Given the description of an element on the screen output the (x, y) to click on. 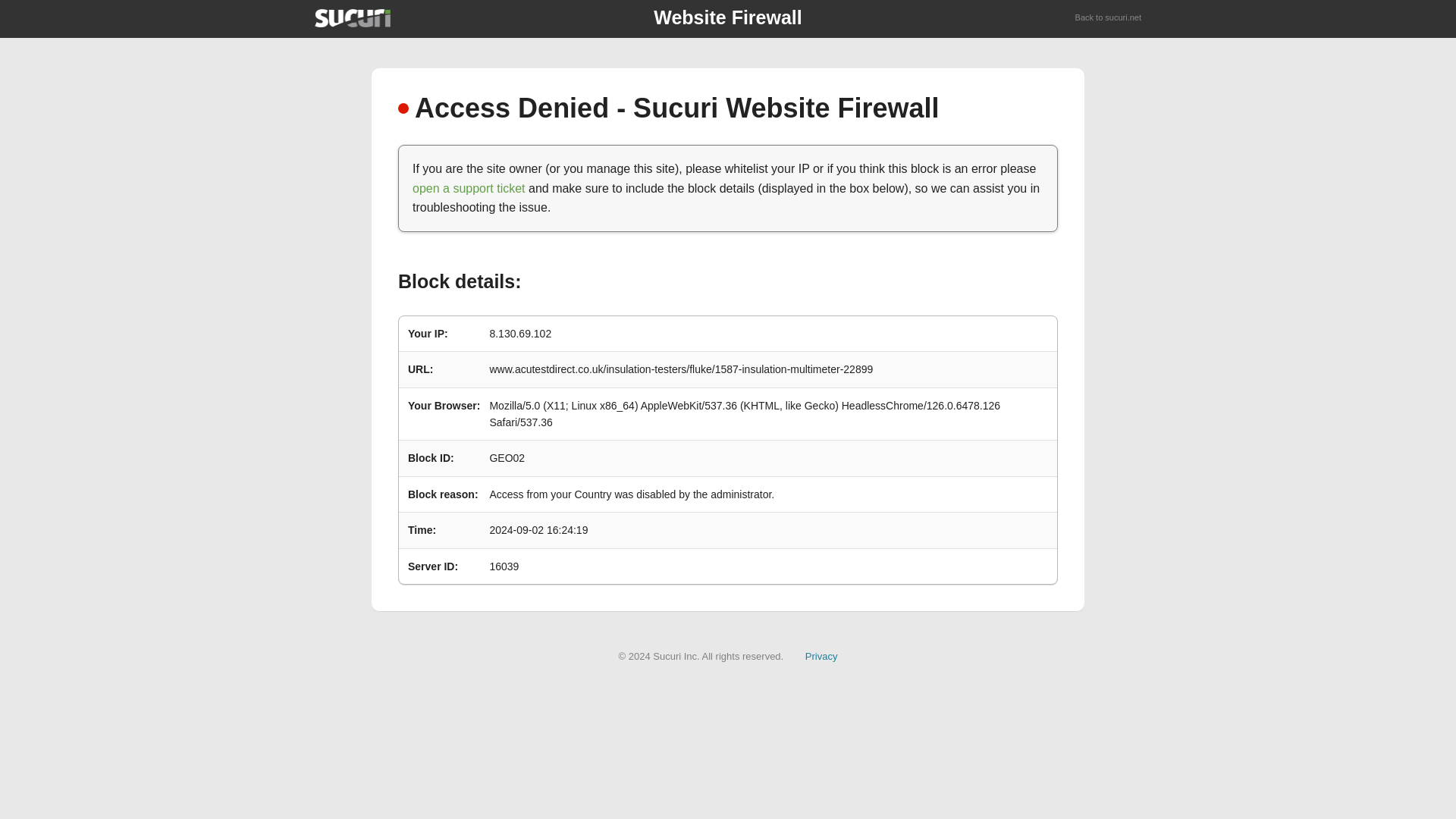
Privacy (821, 655)
Back to sucuri.net (1108, 18)
open a support ticket (468, 187)
